Given the description of an element on the screen output the (x, y) to click on. 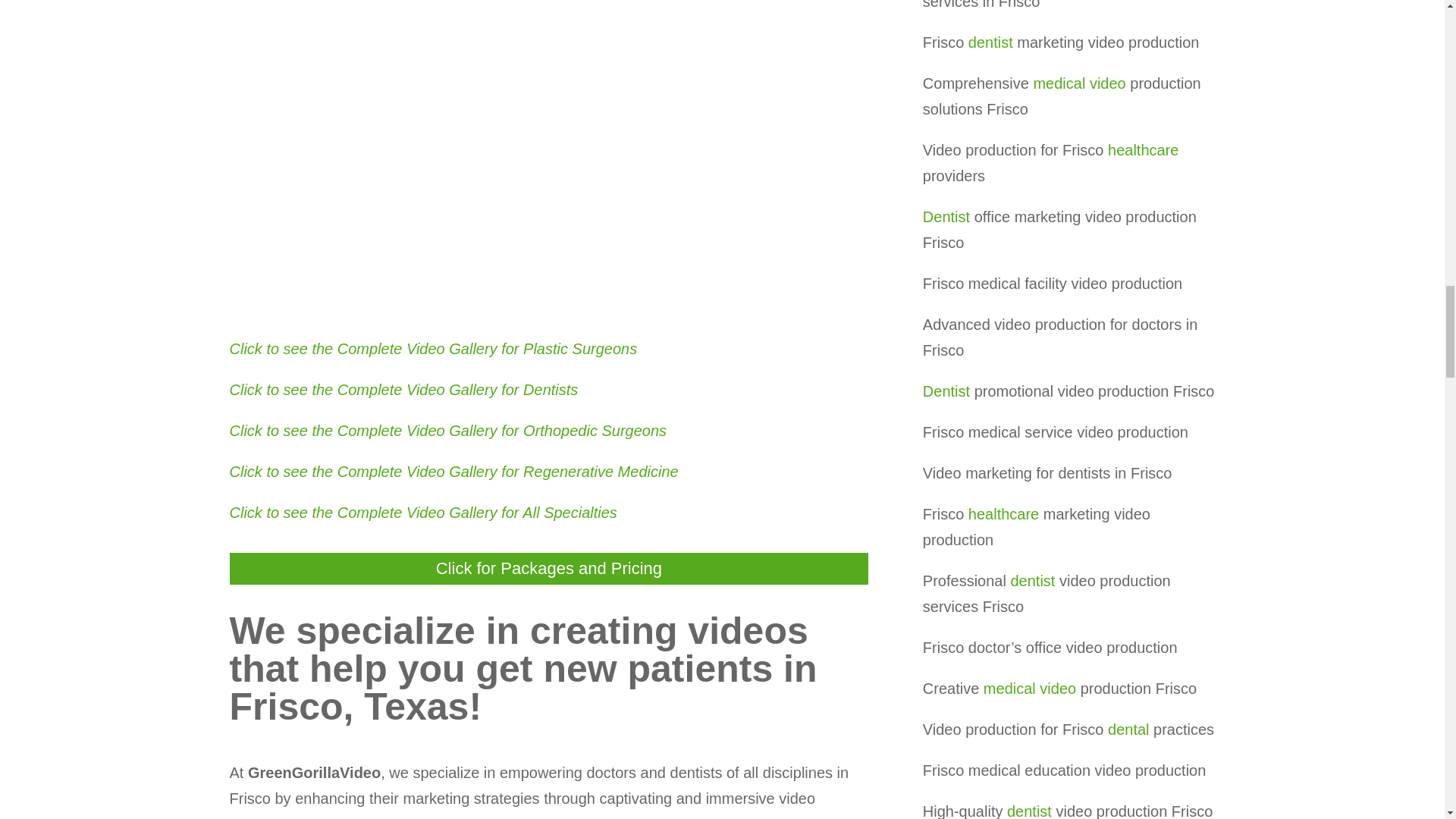
Click for Packages and Pricing (548, 568)
Click to see the Complete Video Gallery for Plastic Surgeons (432, 348)
Click to see the Complete Video Gallery for Dentists (403, 389)
Click to see the Complete Video Gallery for All Specialties (421, 512)
